Given the description of an element on the screen output the (x, y) to click on. 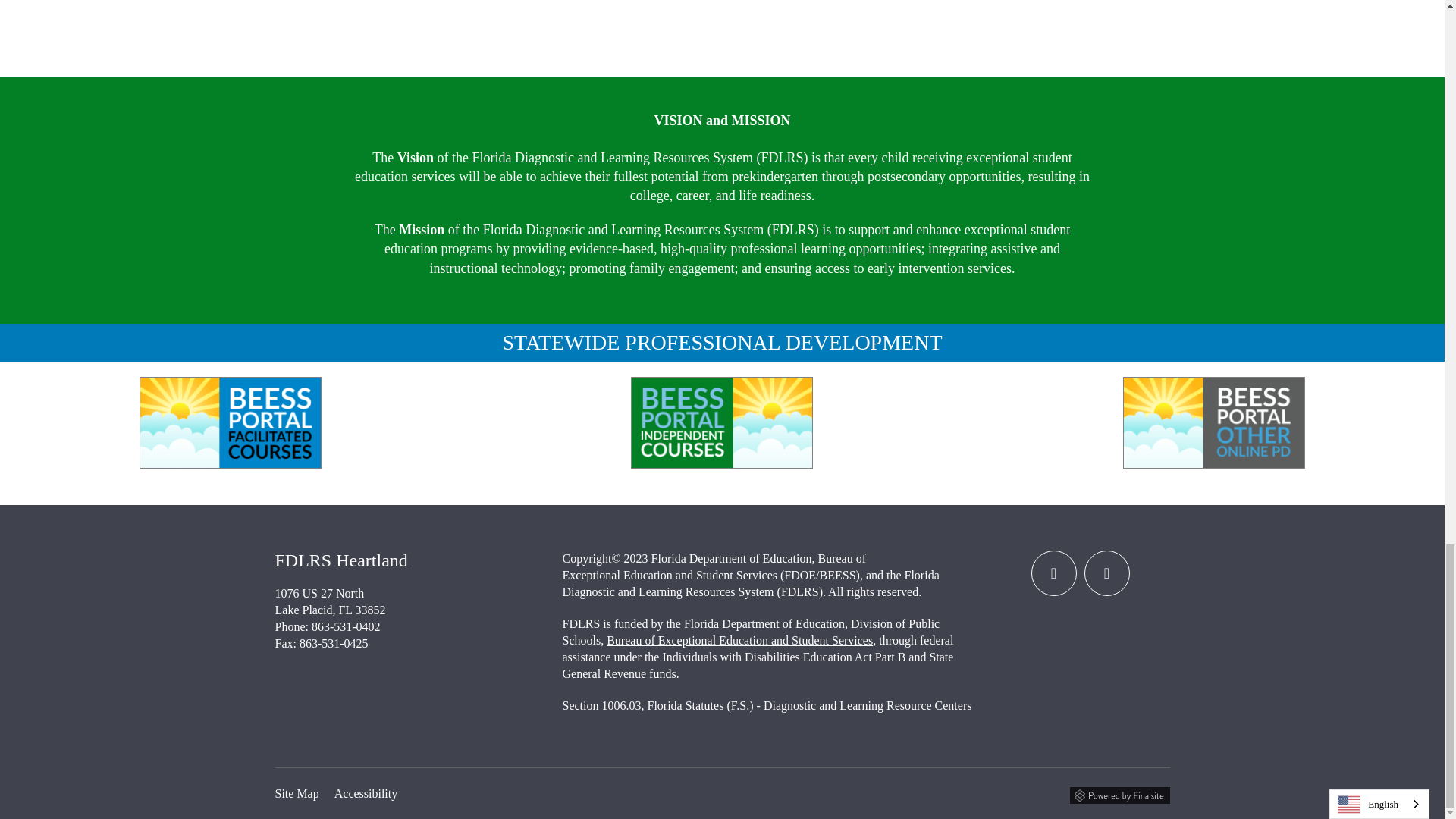
Powered by Finalsite opens in a new window (1118, 793)
